Given the description of an element on the screen output the (x, y) to click on. 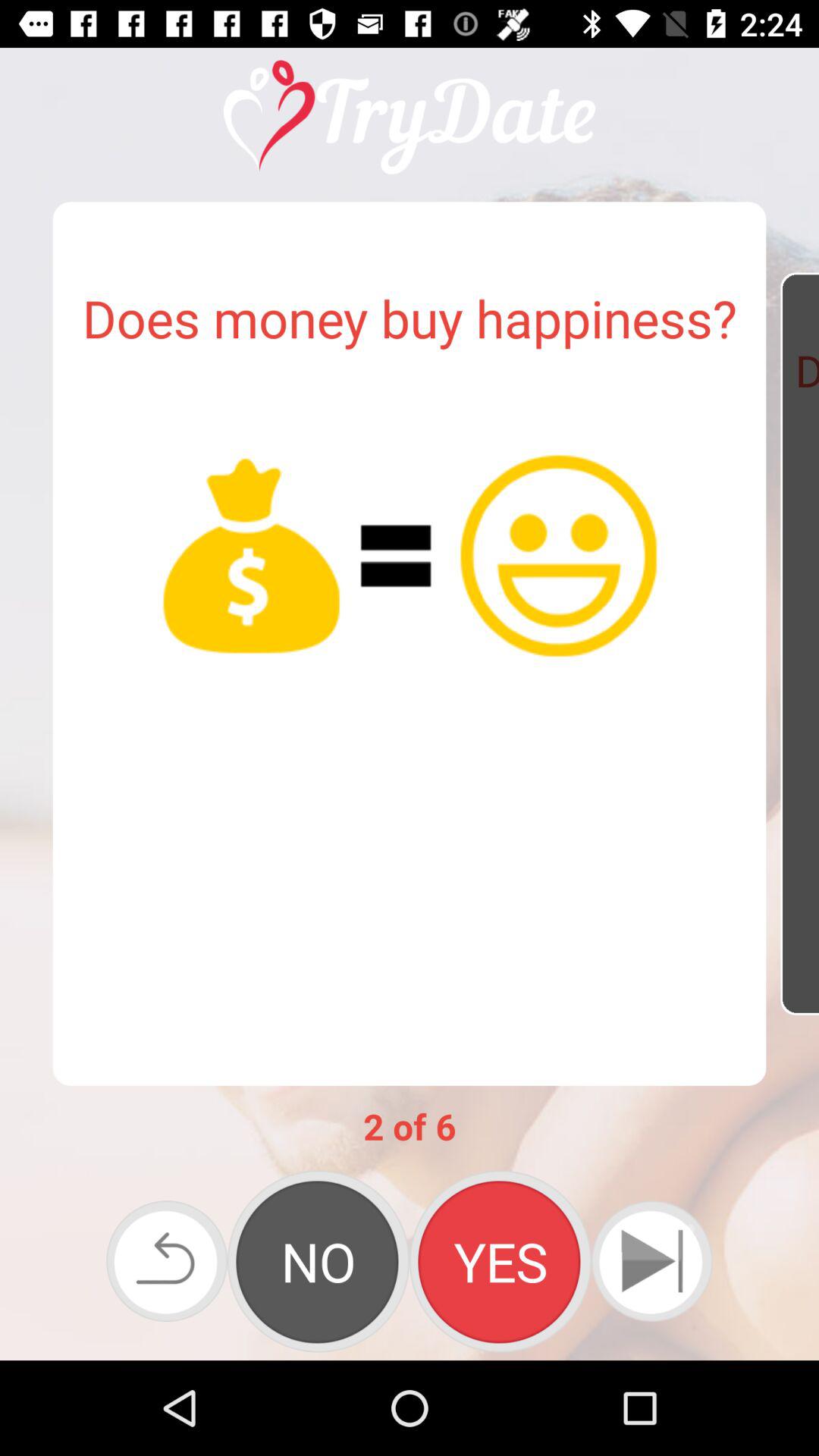
poll answer yes (500, 1261)
